Given the description of an element on the screen output the (x, y) to click on. 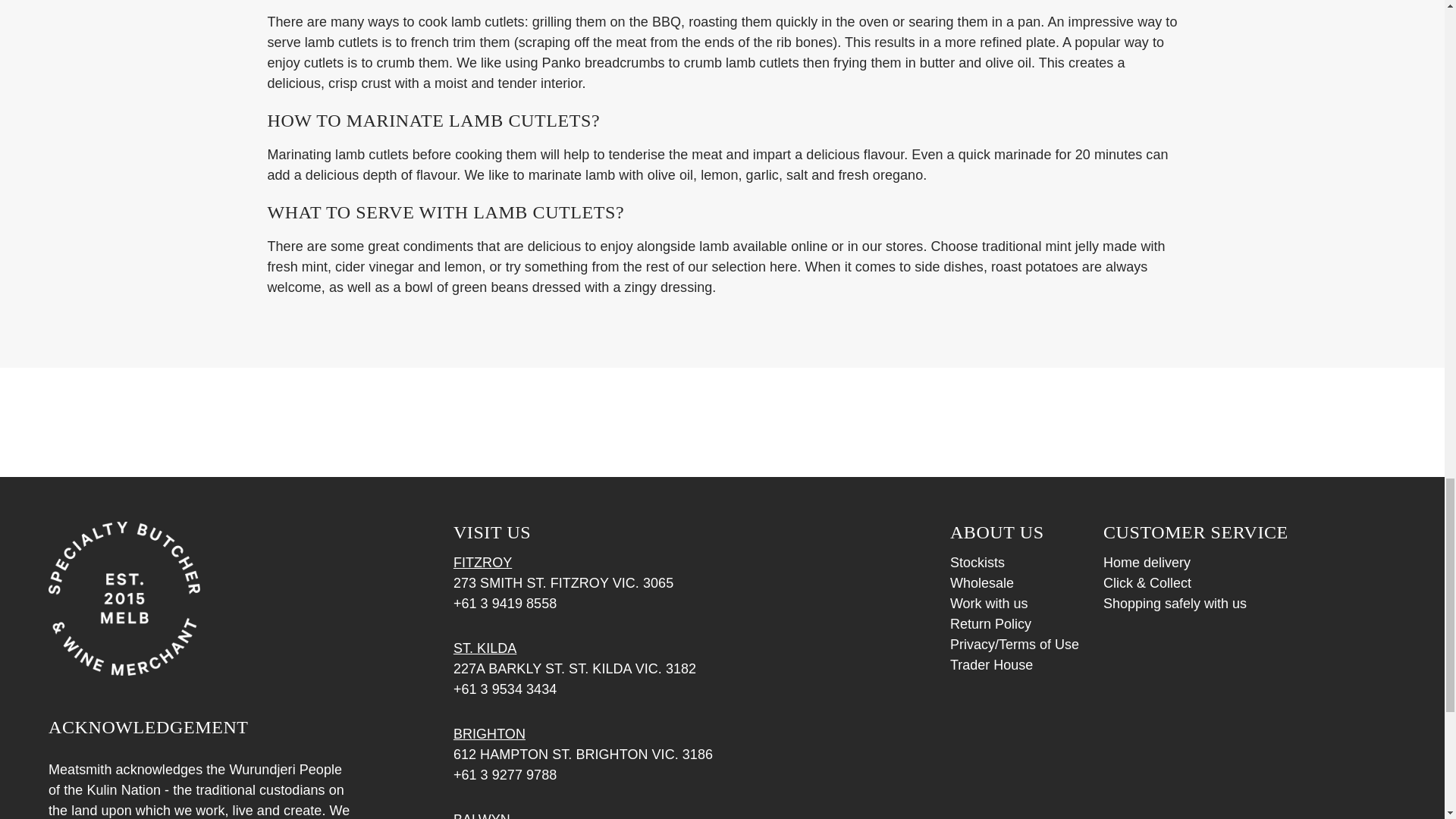
Home delivery (1147, 562)
Shopping safely with us (1174, 603)
Wholesale (981, 582)
Stockists (977, 562)
Work with us (988, 603)
Trader House (991, 664)
Return Policy (990, 623)
